Given the description of an element on the screen output the (x, y) to click on. 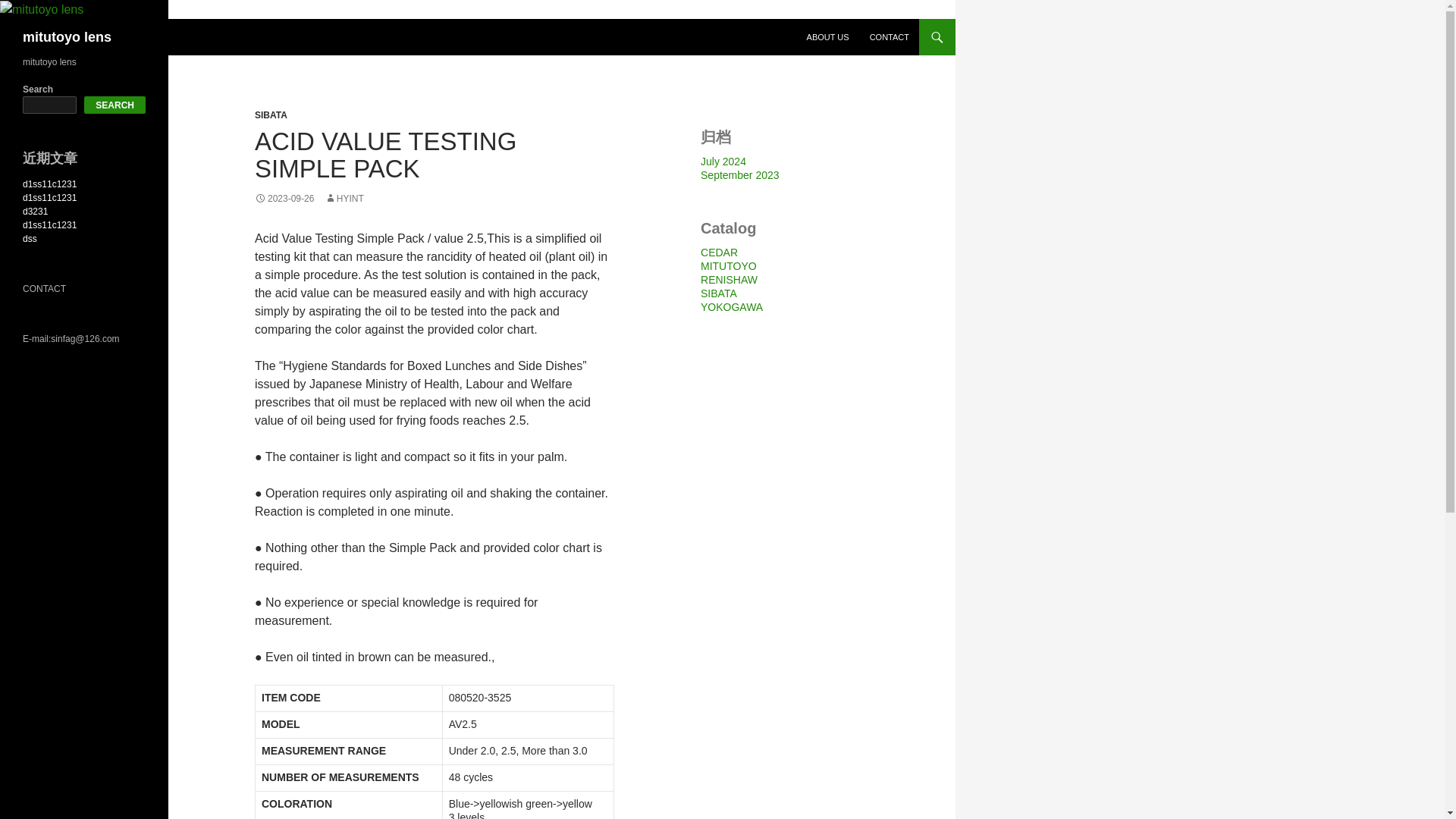
dss (30, 238)
CONTACT (889, 36)
YOKOGAWA (731, 306)
ABOUT US (828, 36)
July 2024 (722, 161)
SIBATA (270, 114)
mitutoyo lens (67, 36)
d1ss11c1231 (50, 197)
2023-09-26 (284, 198)
d1ss11c1231 (50, 184)
CEDAR (719, 252)
RENISHAW (728, 279)
MITUTOYO (728, 265)
